Given the description of an element on the screen output the (x, y) to click on. 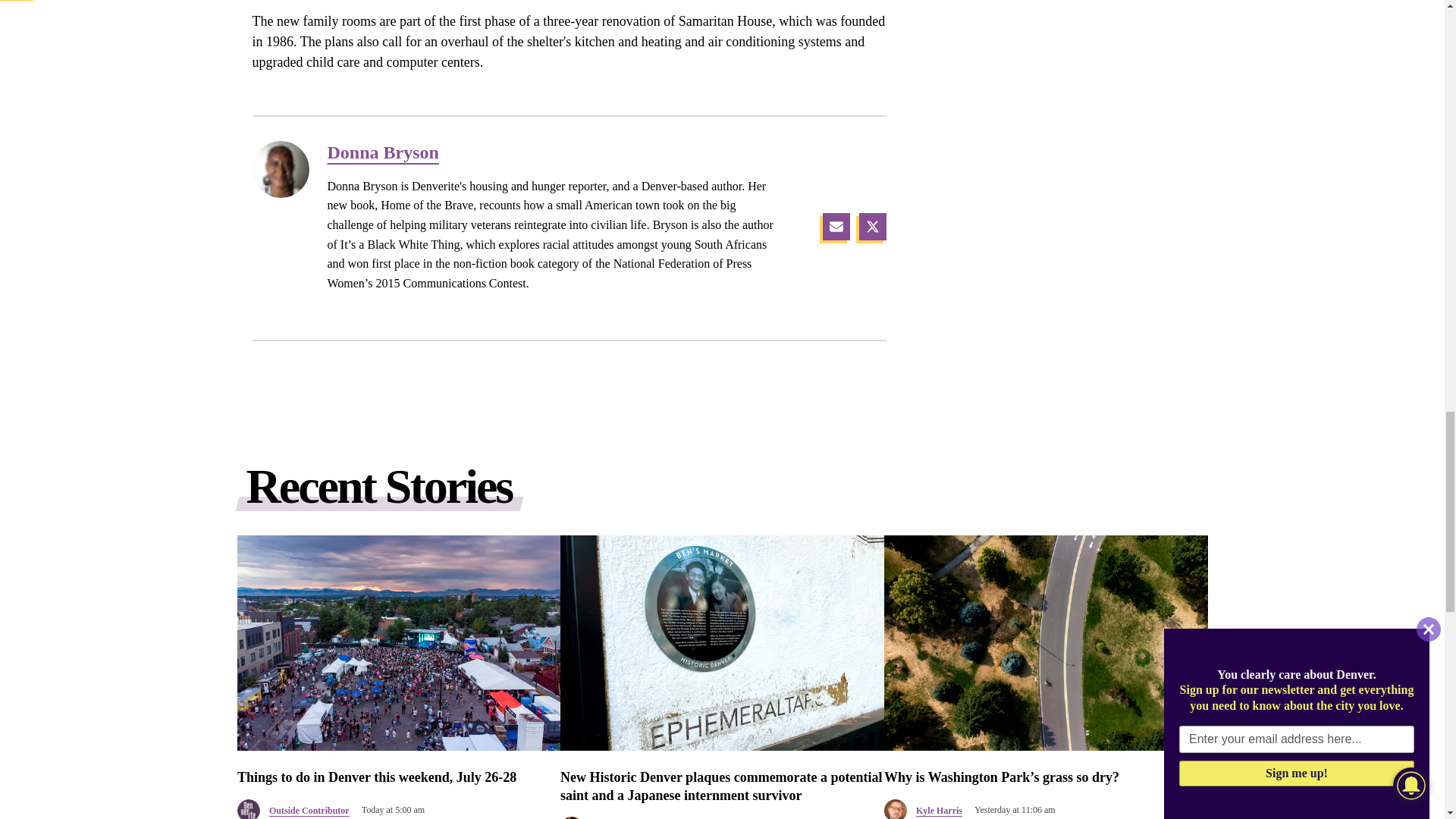
Donna Bryson (555, 152)
